Given the description of an element on the screen output the (x, y) to click on. 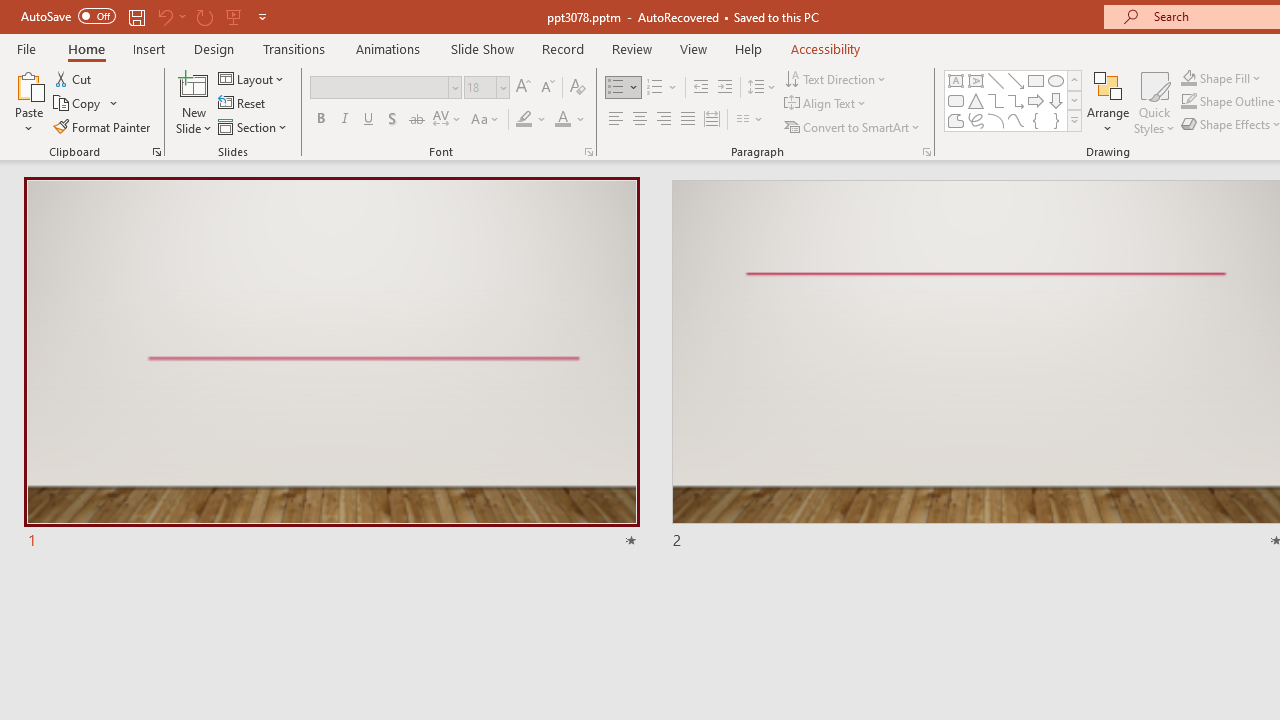
Line (995, 80)
AutomationID: ShapesInsertGallery (1014, 100)
Line Spacing (762, 87)
Underline (369, 119)
Connector: Elbow Arrow (1016, 100)
Arc (995, 120)
Shadow (392, 119)
